Given the description of an element on the screen output the (x, y) to click on. 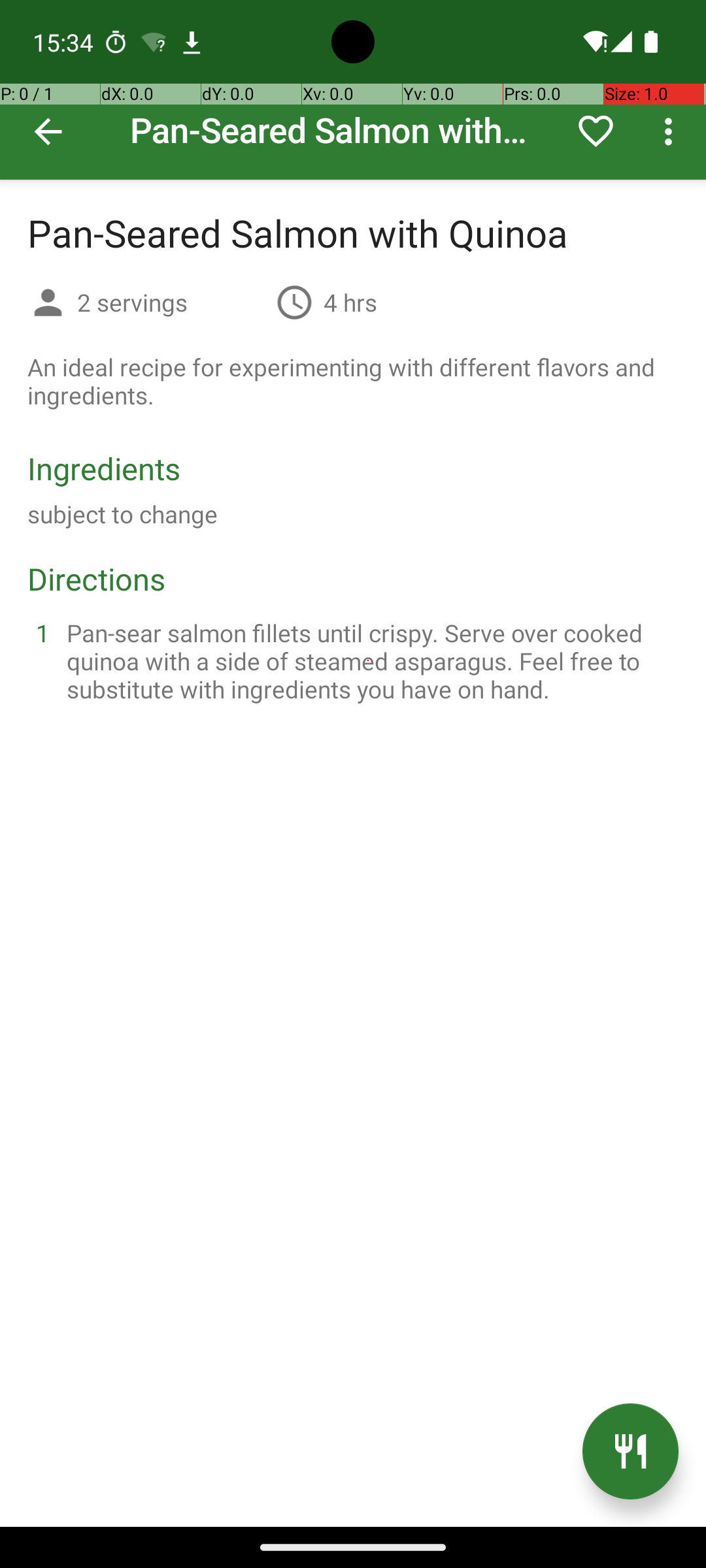
Pan-sear salmon fillets until crispy. Serve over cooked quinoa with a side of steamed asparagus. Feel free to substitute with ingredients you have on hand. Element type: android.widget.TextView (368, 660)
